Given the description of an element on the screen output the (x, y) to click on. 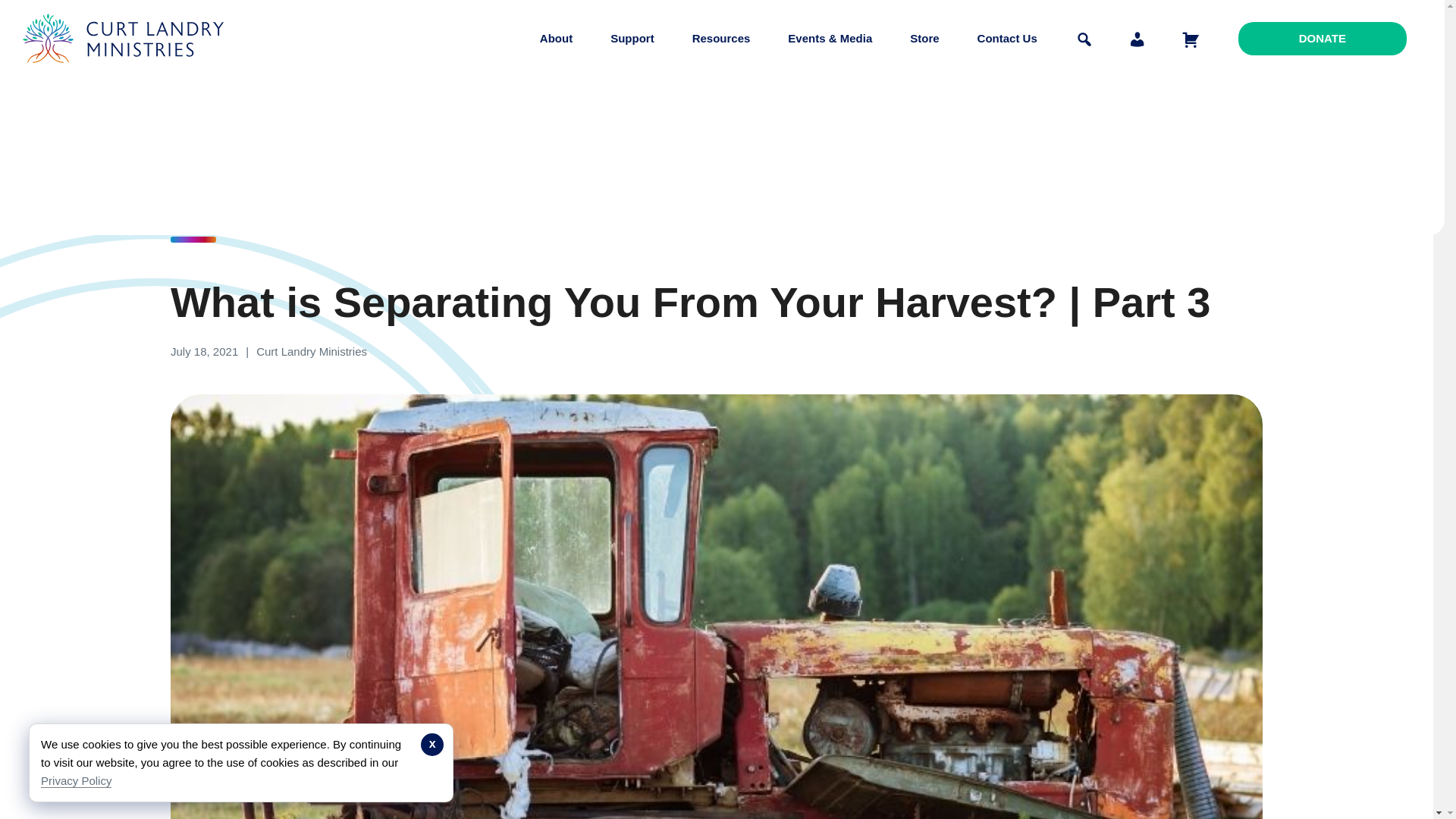
Resources (721, 38)
Store (924, 38)
About (556, 38)
Curt Landry Ministries (127, 74)
Support (631, 38)
